Given the description of an element on the screen output the (x, y) to click on. 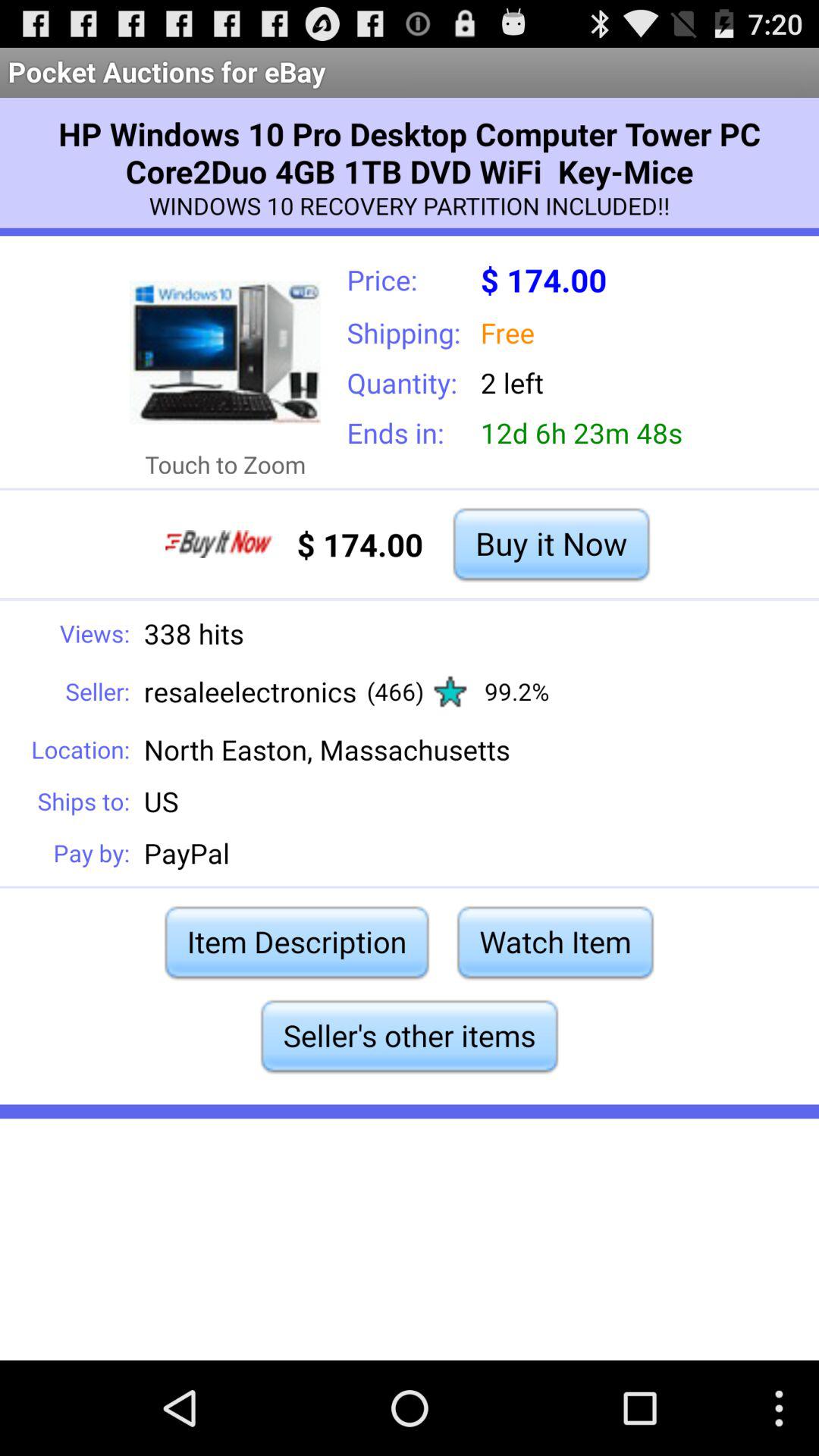
swipe until buy it now item (551, 544)
